Given the description of an element on the screen output the (x, y) to click on. 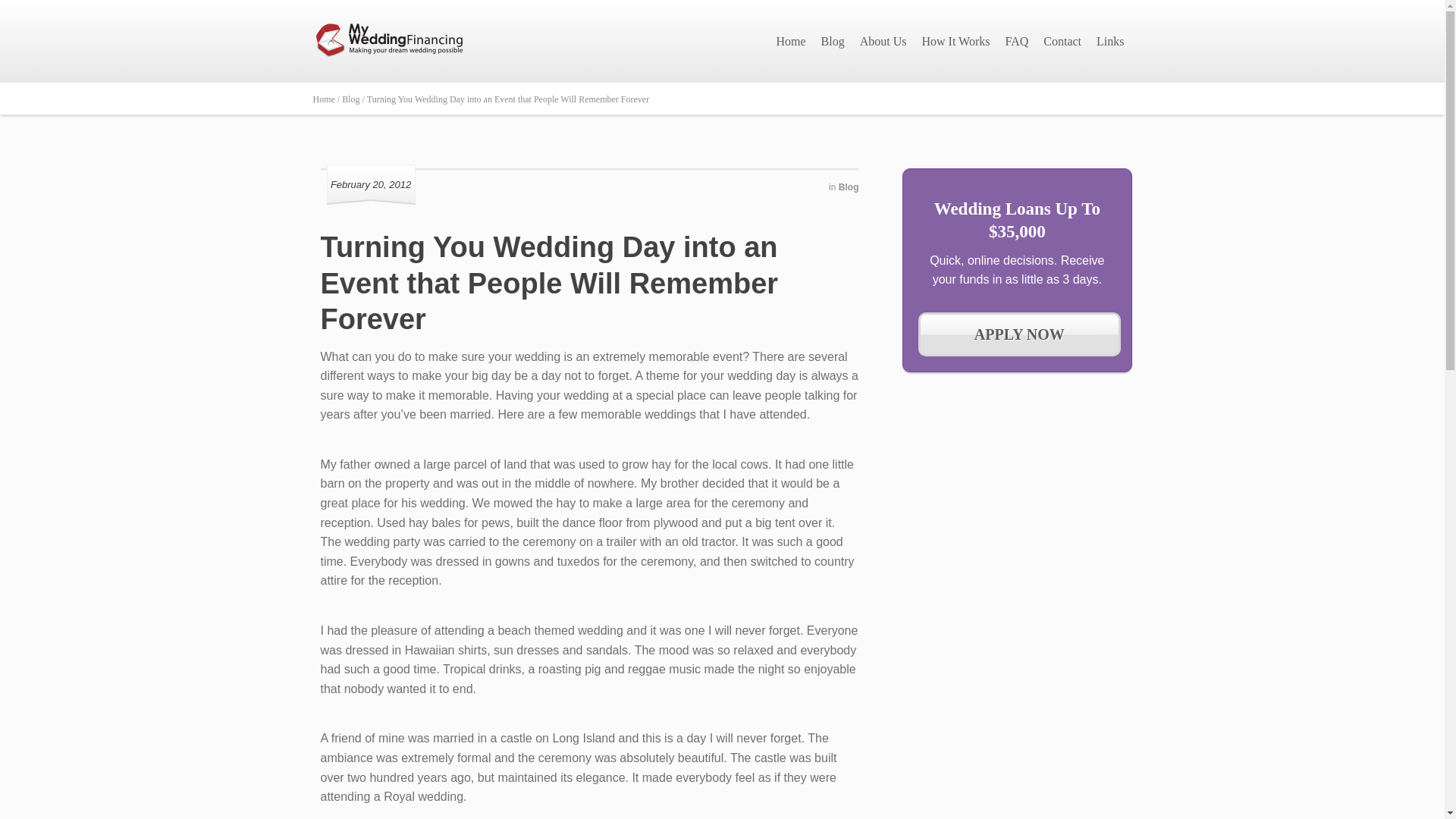
Links (1110, 41)
Contact (1062, 41)
APPLY NOW (1018, 334)
FAQ (1016, 41)
About Us (882, 41)
Home (790, 41)
How It Works (955, 41)
Blog (832, 41)
Blog (848, 186)
